Given the description of an element on the screen output the (x, y) to click on. 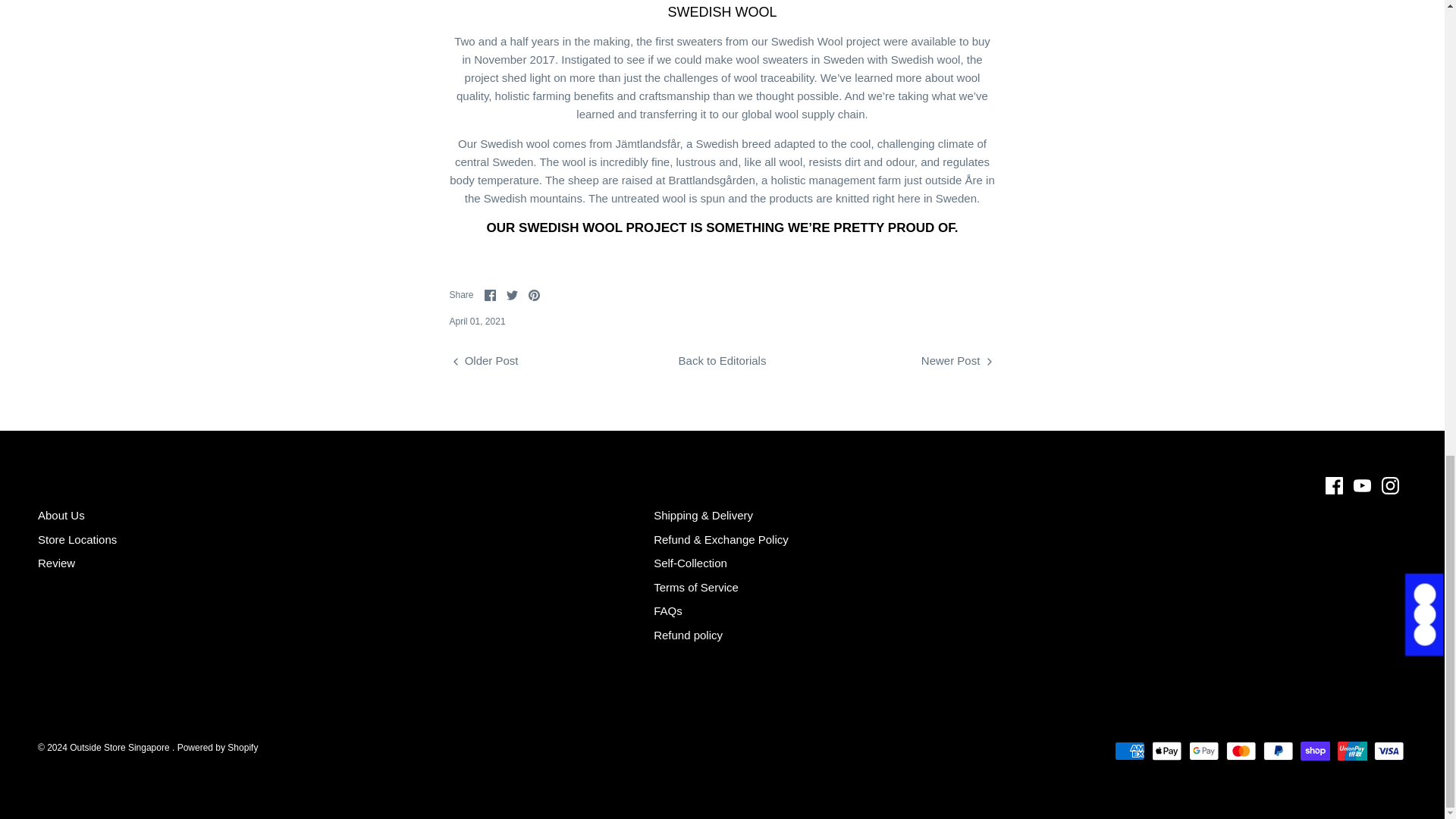
Facebook (1333, 485)
Shop Pay (1315, 751)
Twitter (512, 295)
Visa (1388, 751)
Google Pay (1203, 751)
Union Pay (1352, 751)
American Express (1129, 751)
Apple Pay (1166, 751)
Pinterest (534, 295)
Facebook (490, 295)
